Given the description of an element on the screen output the (x, y) to click on. 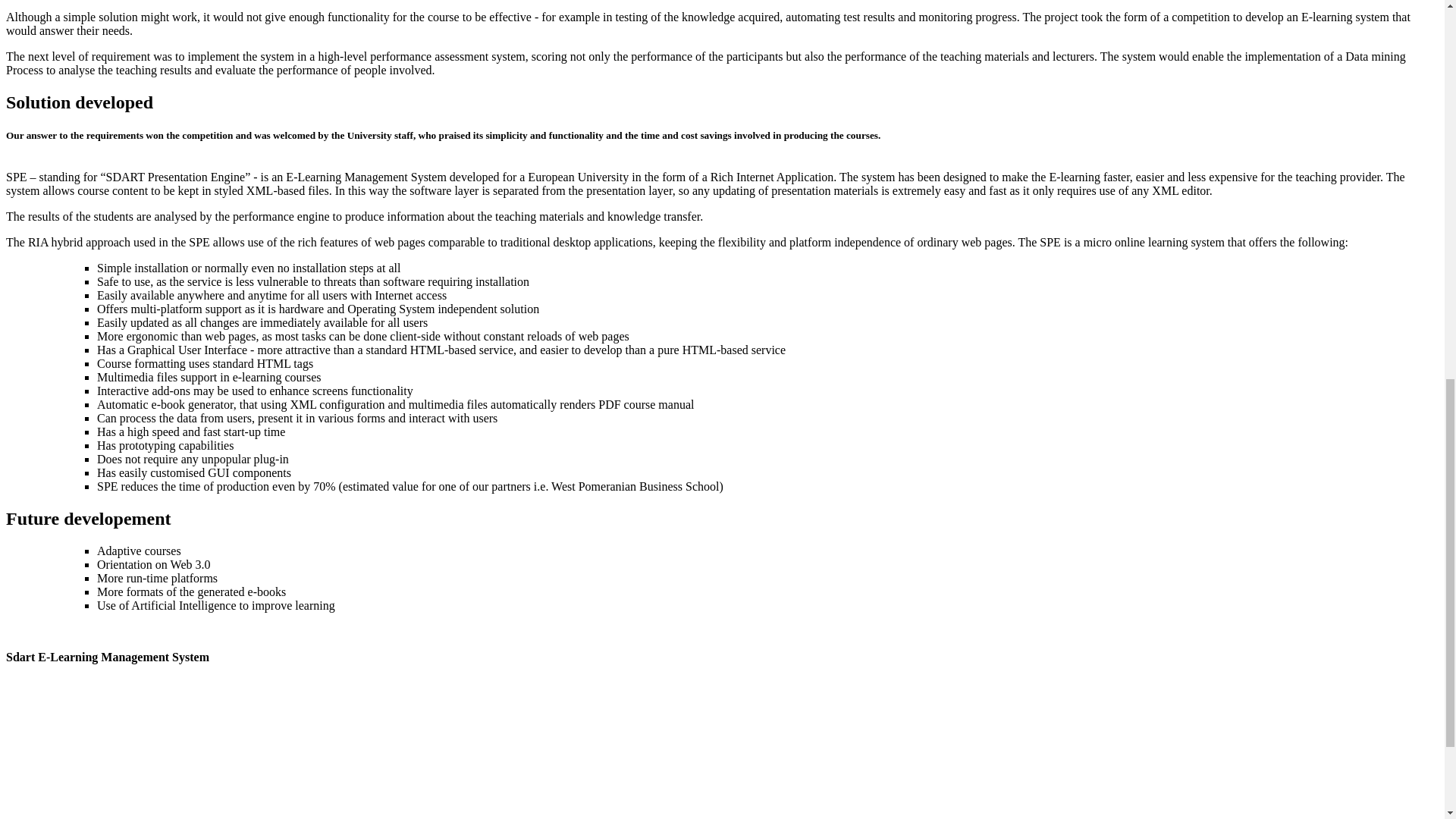
Sdart E-Learning Management System (107, 656)
Sdart E-Learning Management System (107, 656)
